Given the description of an element on the screen output the (x, y) to click on. 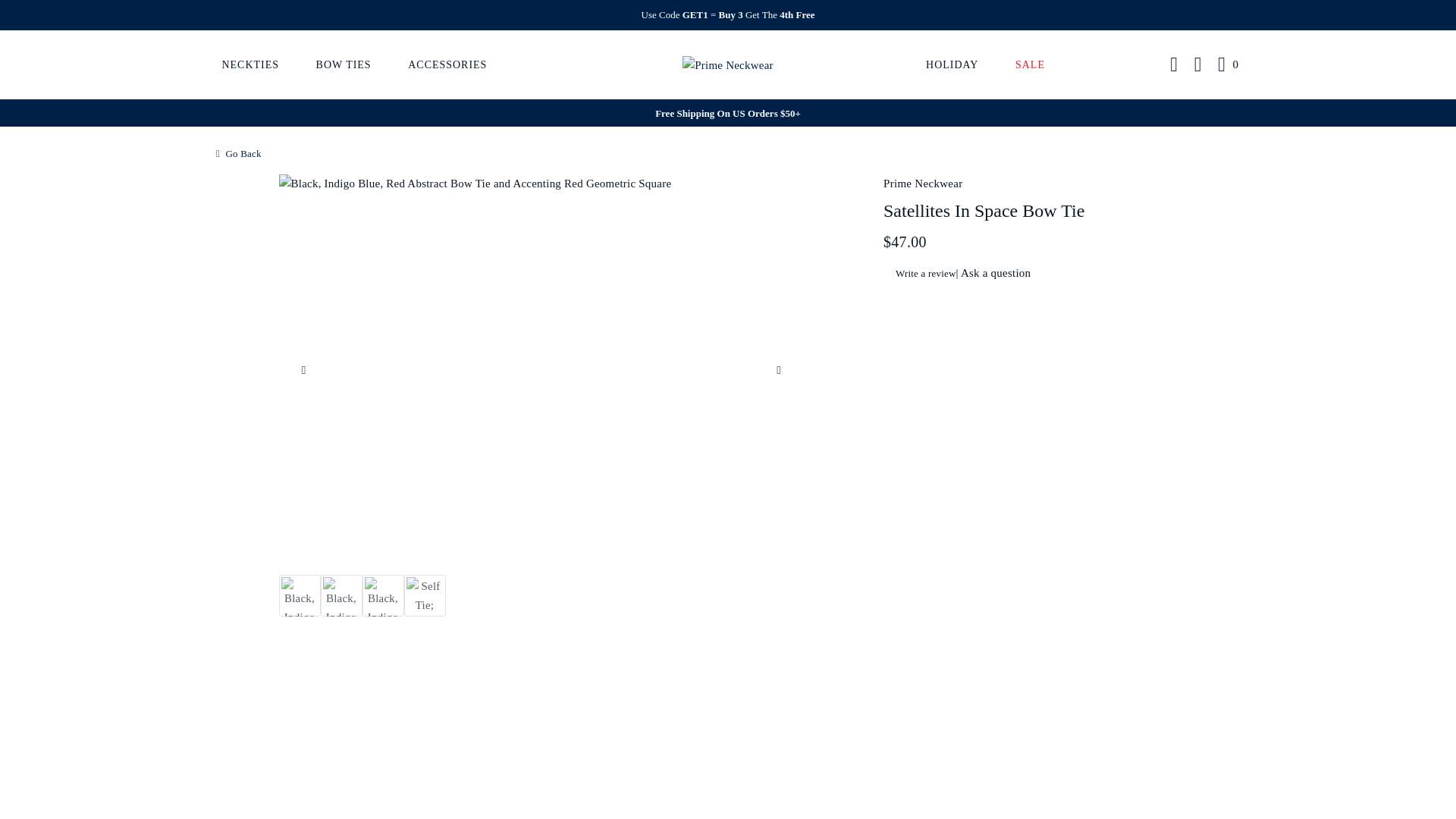
cart (1228, 64)
Accessories (448, 64)
Neckties (250, 64)
Prime Neckwear (727, 64)
BOW TIES (343, 64)
NECKTIES (250, 64)
Bow Ties (343, 64)
Holiday (952, 64)
